Given the description of an element on the screen output the (x, y) to click on. 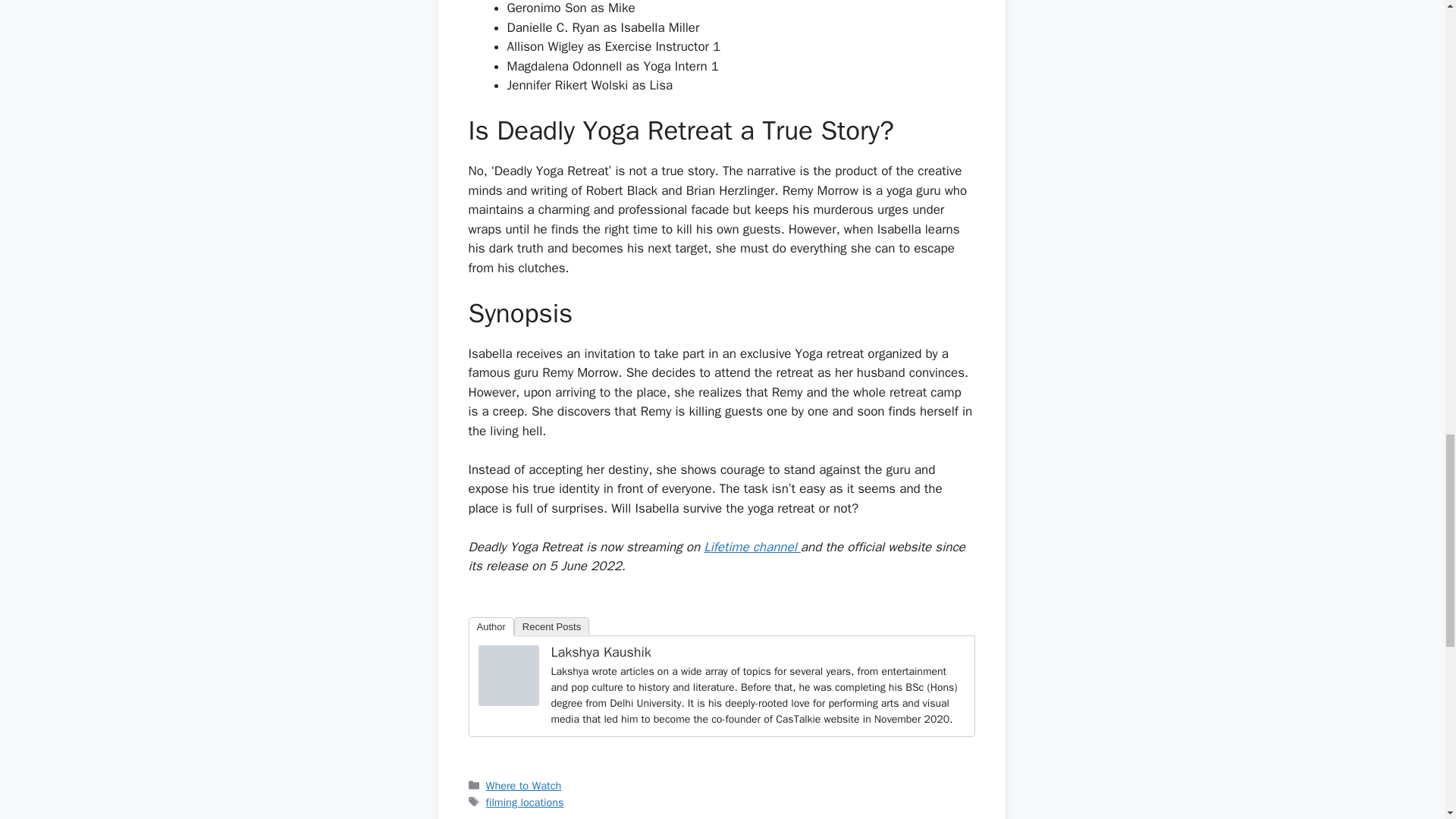
Lakshya Kaushik (507, 701)
Lifetime channel (751, 546)
filming locations (525, 802)
Where to Watch (524, 785)
Author (490, 626)
Lakshya Kaushik (600, 651)
Recent Posts (551, 625)
